Given the description of an element on the screen output the (x, y) to click on. 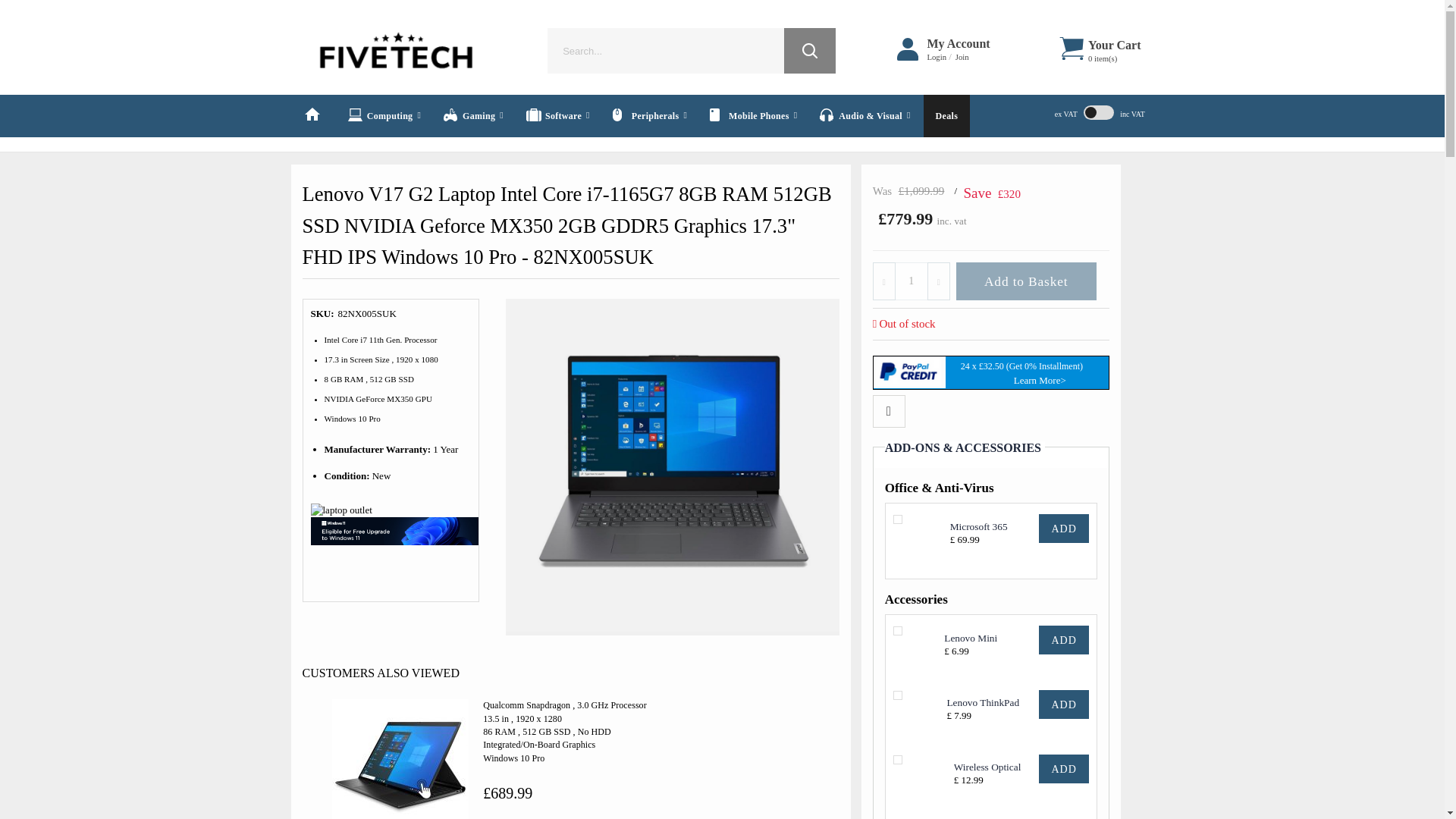
Computing (384, 116)
Computing (384, 116)
Join (960, 58)
Login (935, 57)
Five Tech (396, 50)
Search (809, 50)
Search (809, 50)
